Given the description of an element on the screen output the (x, y) to click on. 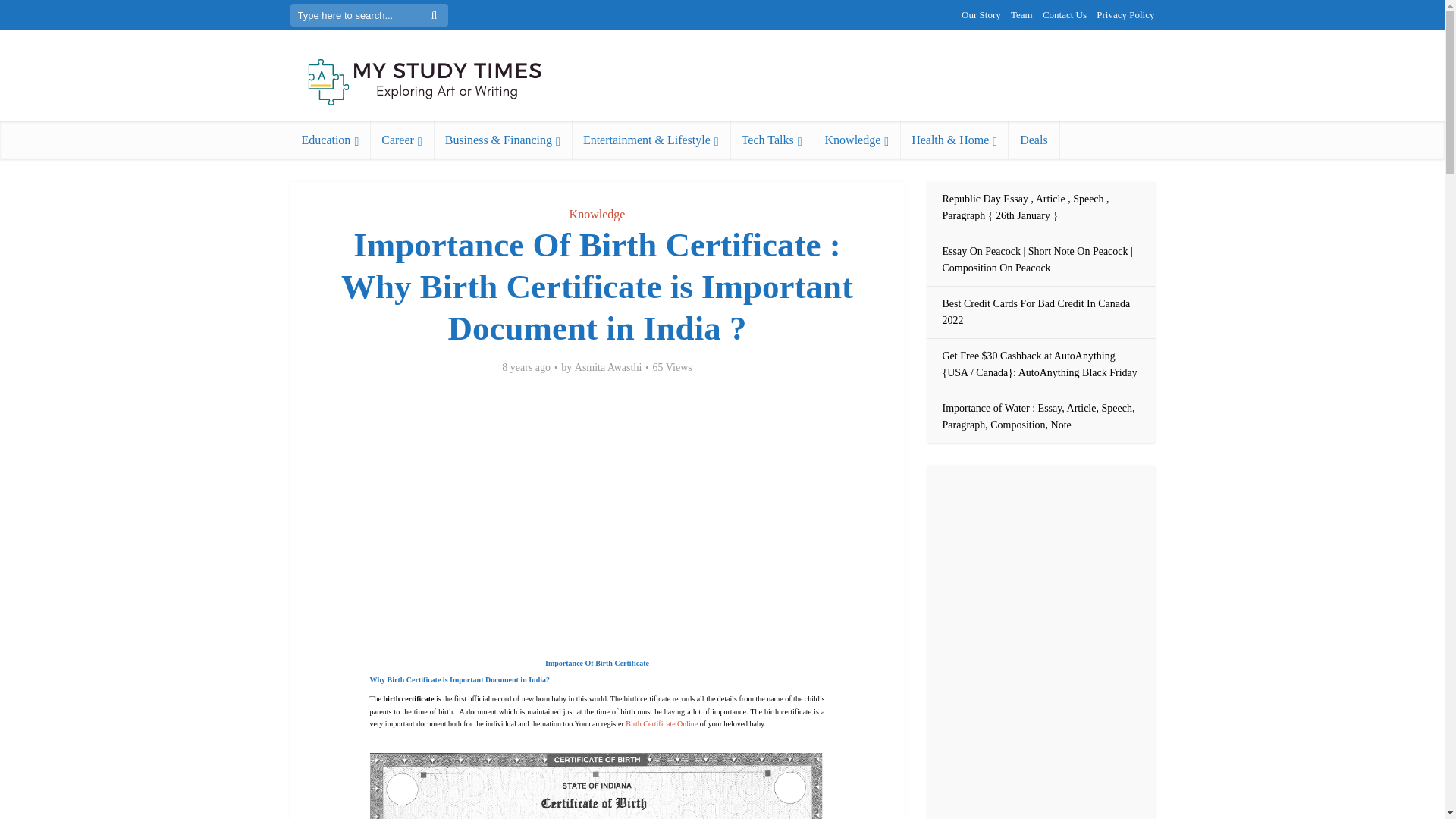
Team (1021, 14)
Our Story (980, 14)
Education (329, 139)
Career (400, 139)
Type here to search... (367, 15)
Knowledge (857, 139)
Privacy Policy (1125, 14)
Type here to search... (367, 15)
Contact Us (1064, 14)
